Given the description of an element on the screen output the (x, y) to click on. 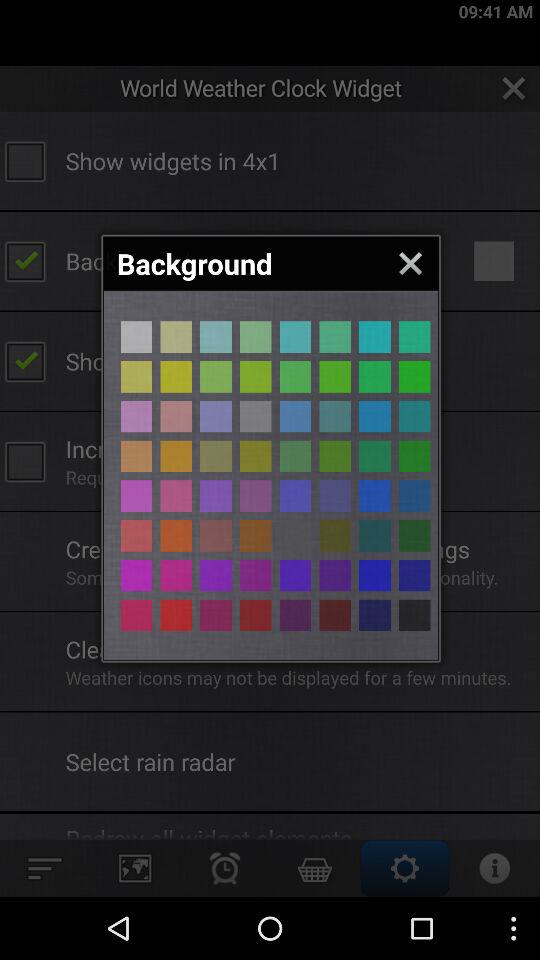
color of background (335, 416)
